Given the description of an element on the screen output the (x, y) to click on. 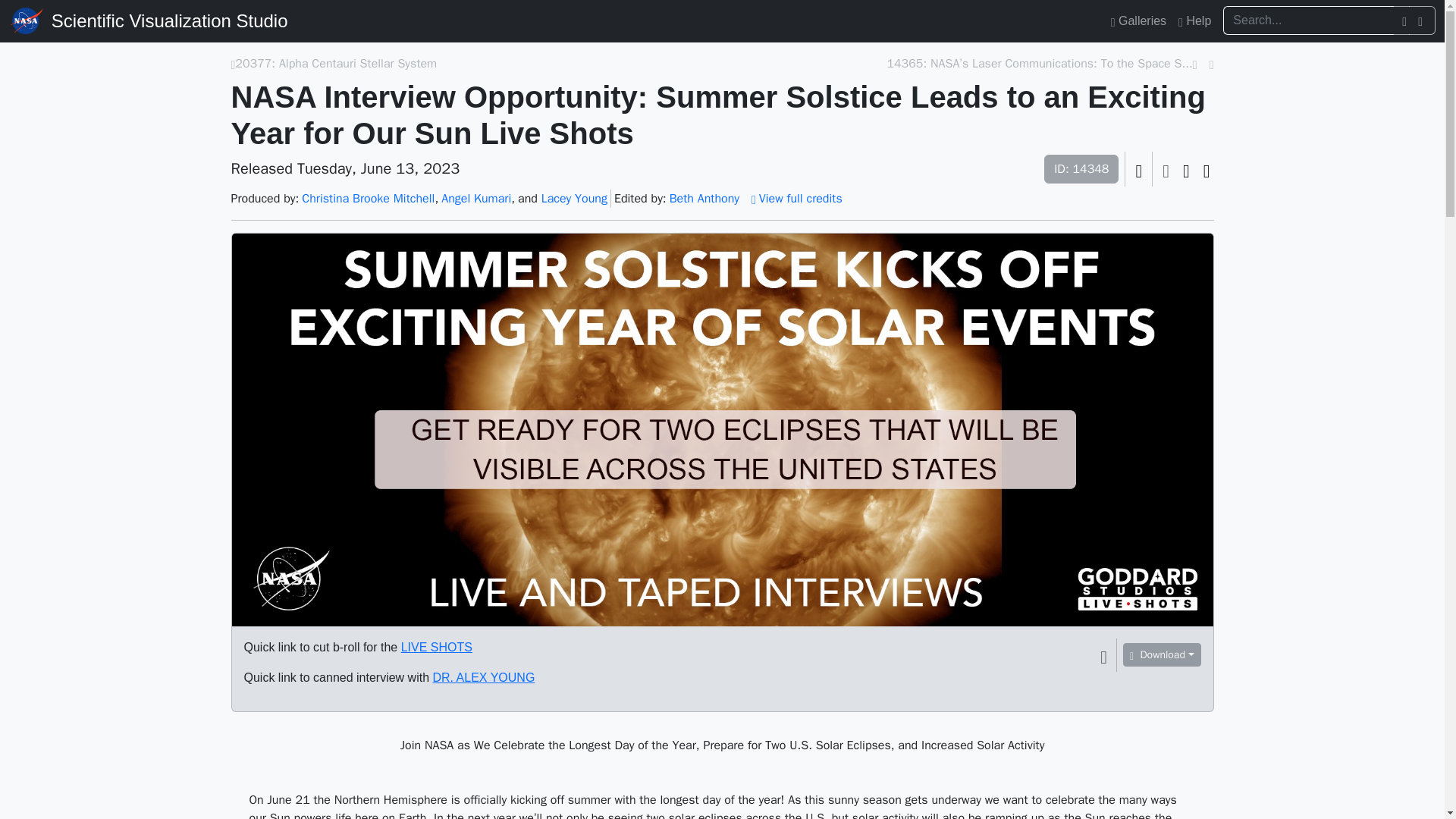
LIVE SHOTS (436, 646)
Lacey Young (574, 198)
Download (1160, 654)
Help (1194, 20)
View full credits (797, 198)
Search! (1422, 20)
Scientific Visualization Studio (169, 21)
Galleries (1138, 20)
20377: Alpha Centauri Stellar System (335, 63)
Beth Anthony (704, 198)
Angel Kumari (476, 198)
Christina Brooke Mitchell (367, 198)
DR. ALEX YOUNG (483, 676)
